Given the description of an element on the screen output the (x, y) to click on. 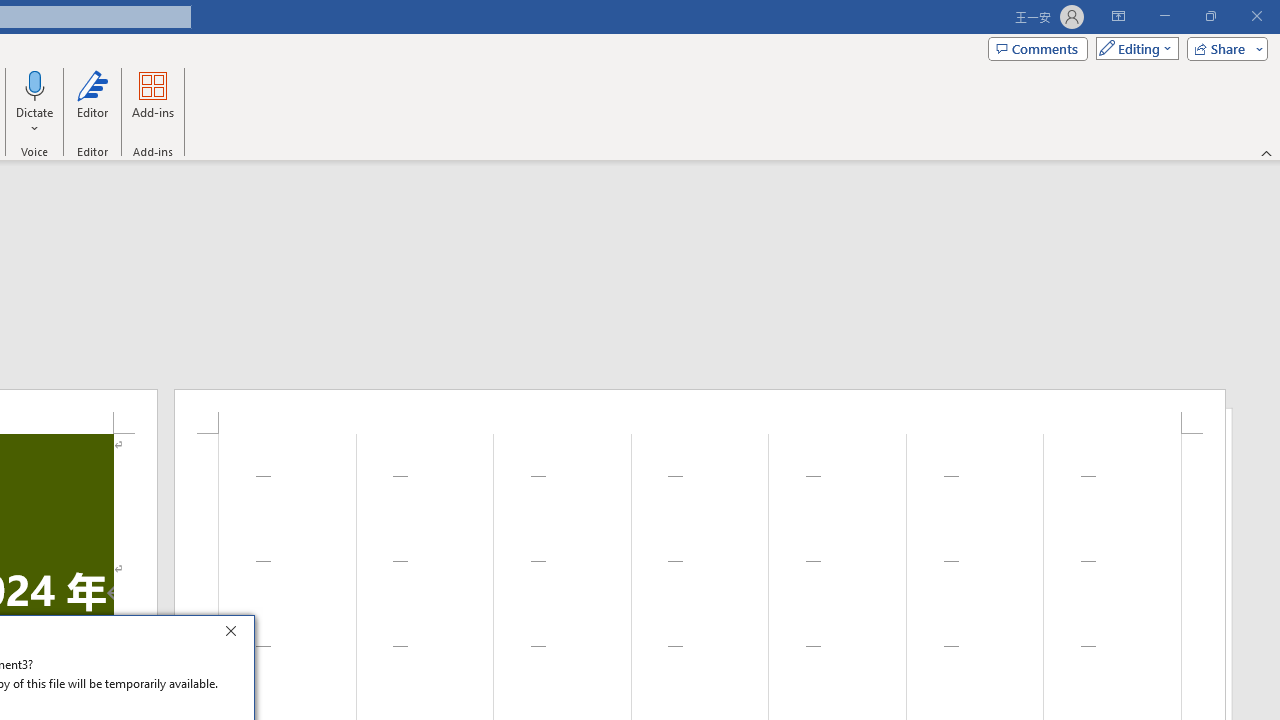
Header -Section 1- (700, 411)
